Given the description of an element on the screen output the (x, y) to click on. 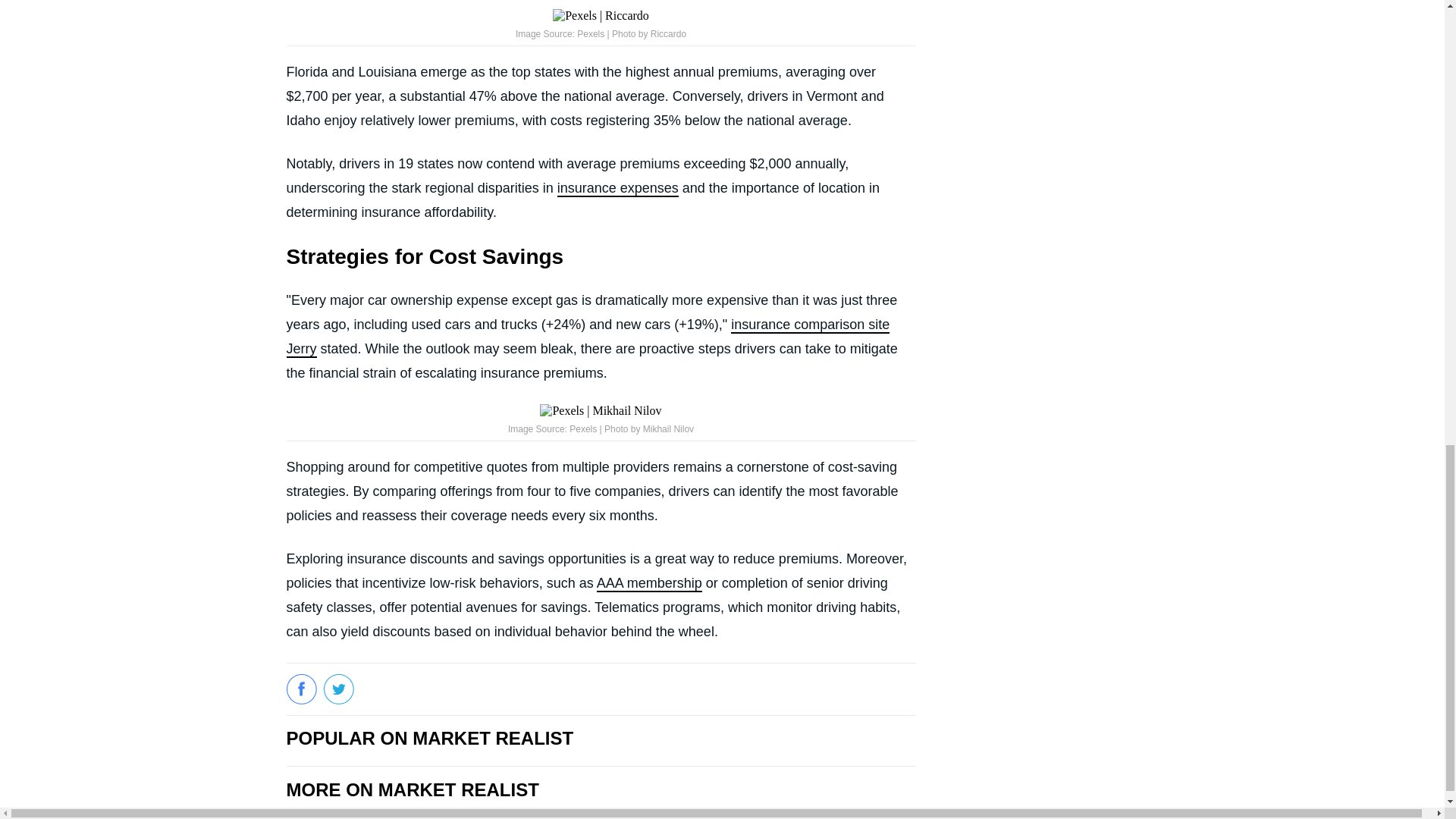
insurance comparison site Jerry (587, 336)
AAA membership (648, 583)
insurance expenses (617, 188)
